Given the description of an element on the screen output the (x, y) to click on. 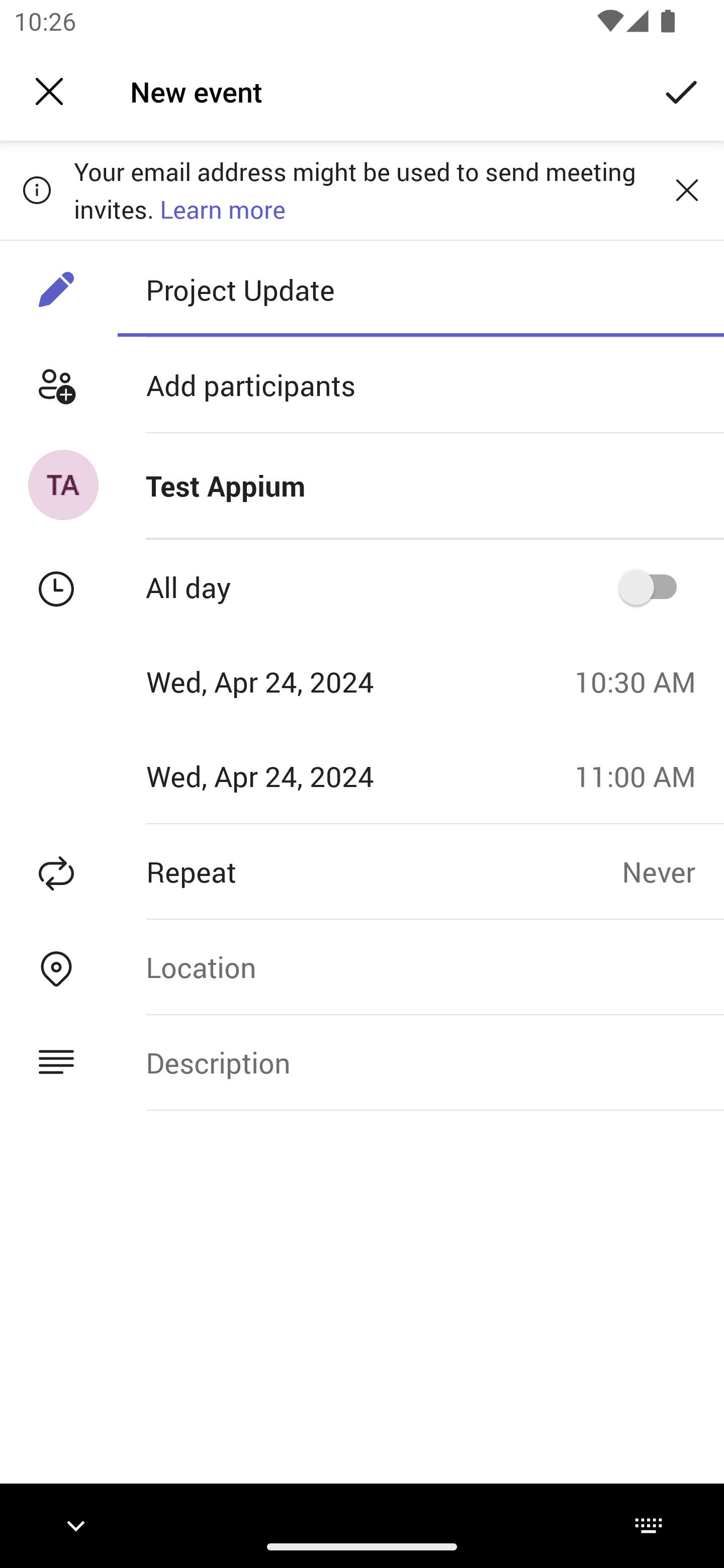
Back (49, 91)
Send invite (681, 90)
Dismiss banner (687, 189)
Project Update (420, 289)
Add participants Add participants option (362, 384)
All day (654, 586)
Wed, Apr 24, 2024 Starts Wednesday Apr 24, 2024 (280, 681)
10:30 AM Start time 10:30 AM (642, 681)
Wed, Apr 24, 2024 Ends Wednesday Apr 24, 2024 (280, 776)
11:00 AM End time 11:00 AM (642, 776)
Repeat (310, 871)
Never Repeat Never (672, 871)
Location (420, 967)
Description (420, 1062)
